Given the description of an element on the screen output the (x, y) to click on. 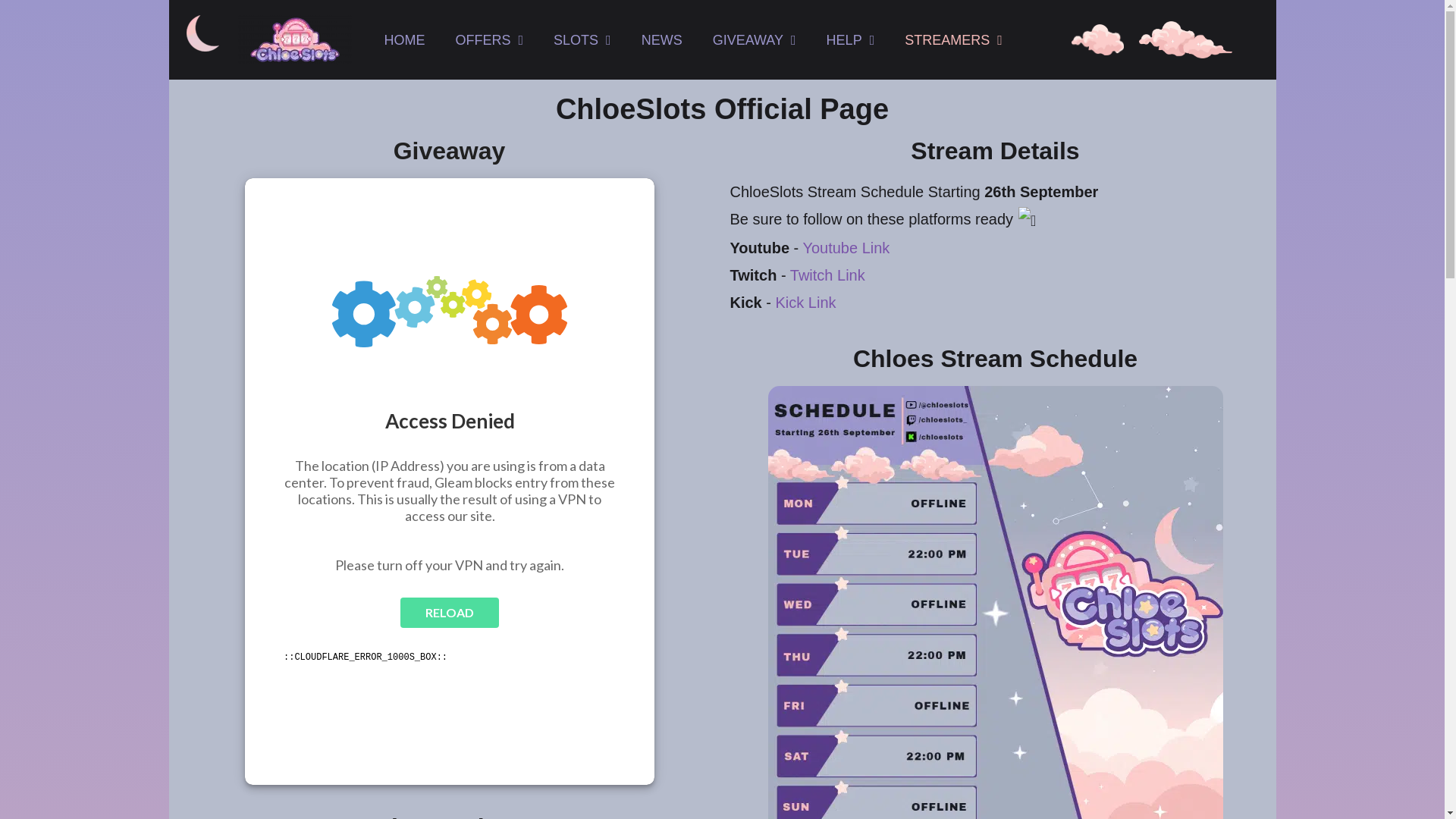
HELP (849, 39)
STREAMERS (953, 39)
NEWS (661, 39)
SLOTS (582, 39)
GIVEAWAY (753, 39)
OFFERS (488, 39)
HOME (403, 39)
